Given the description of an element on the screen output the (x, y) to click on. 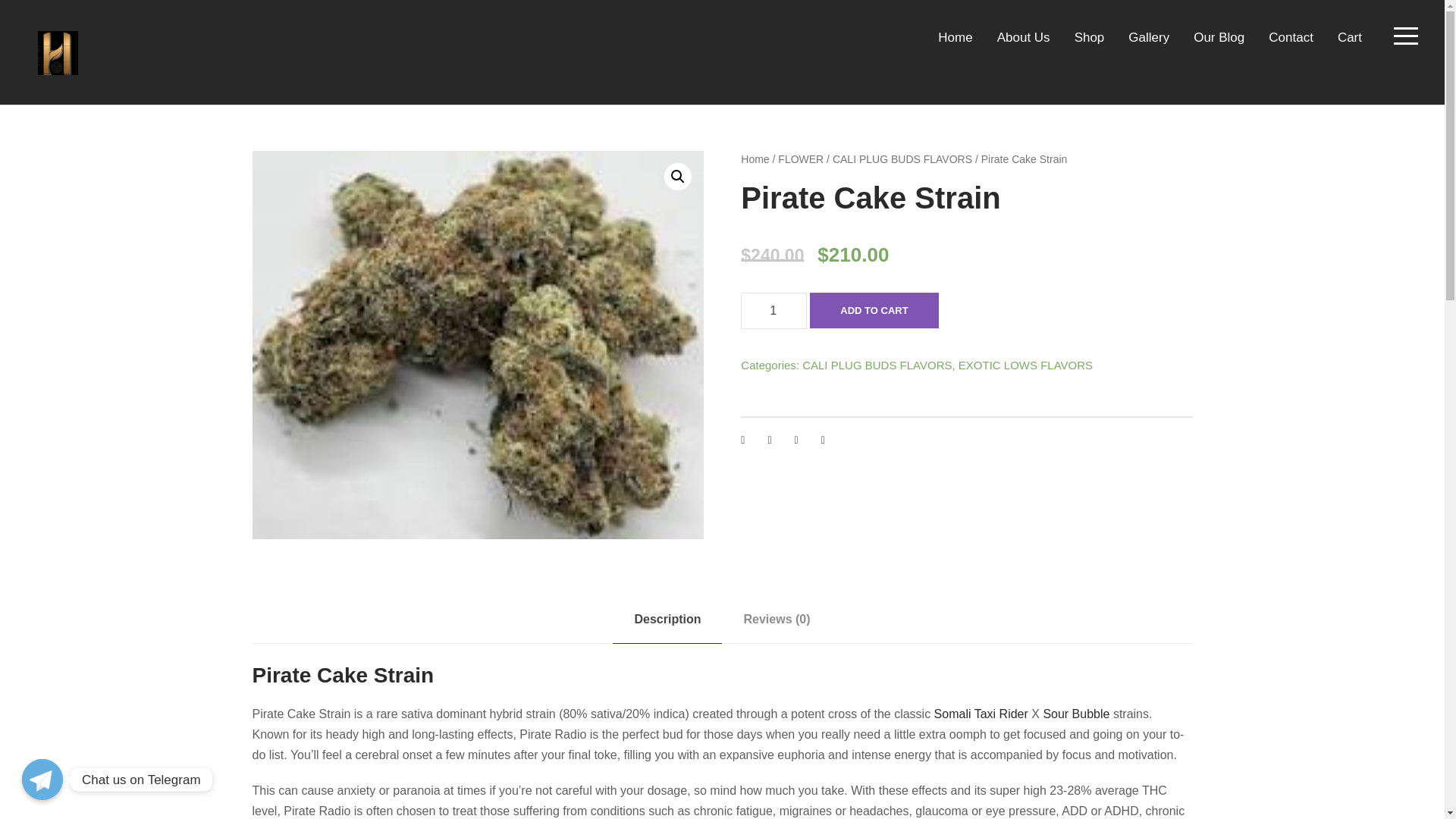
CALI PLUG BUDS FLAVORS (877, 364)
FLOWER (800, 159)
CALI PLUG BUDS FLAVORS (902, 159)
1 (773, 310)
Home (954, 45)
Sour Bubble (1075, 712)
Somali Taxi Rider (980, 712)
Contact (1290, 45)
Home (754, 159)
ADD TO CART (873, 310)
Gallery (1148, 45)
EXOTIC LOWS FLAVORS (1025, 364)
About Us (1023, 45)
Our Blog (1218, 45)
